Given the description of an element on the screen output the (x, y) to click on. 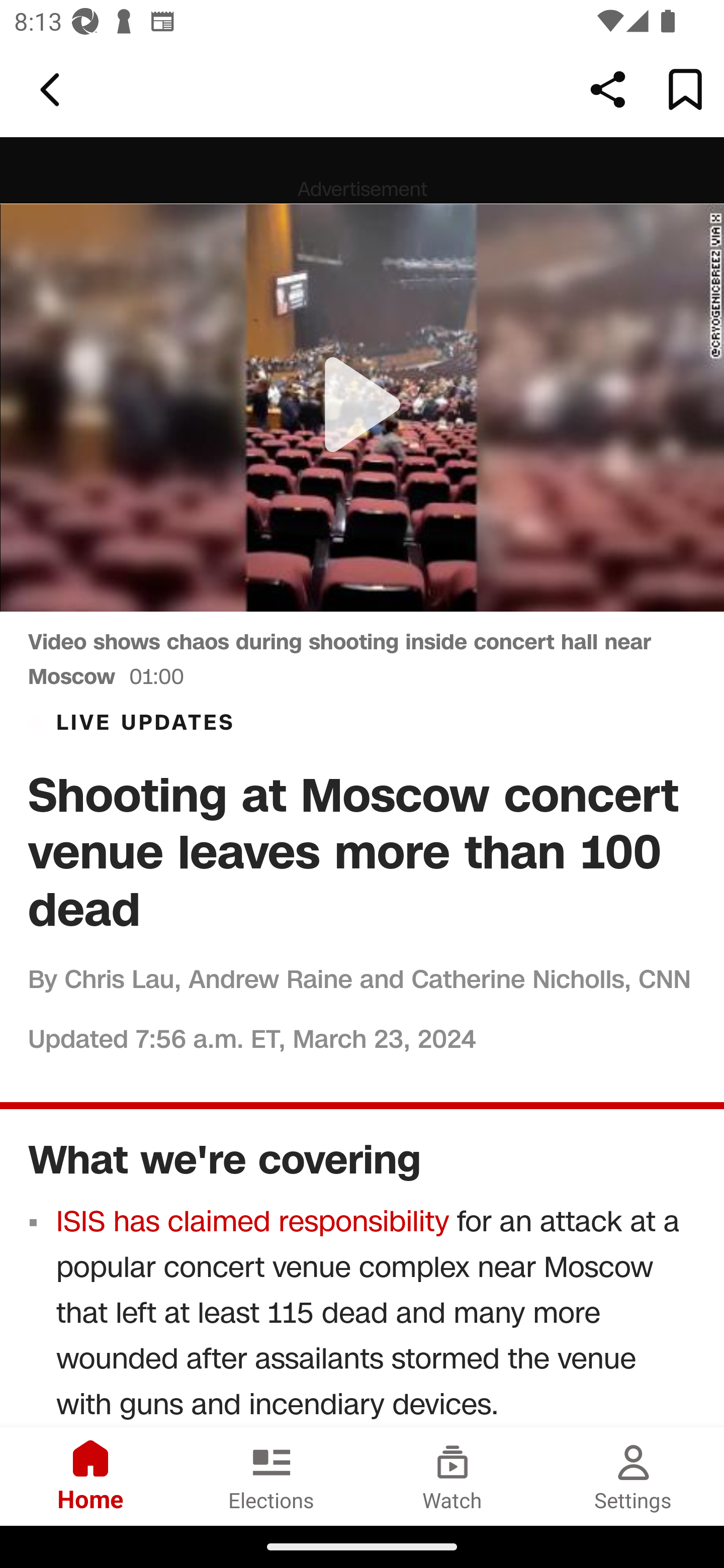
Back Button (52, 89)
Share (607, 89)
Bookmark (685, 89)
Elections (271, 1475)
Watch (452, 1475)
Settings (633, 1475)
